Given the description of an element on the screen output the (x, y) to click on. 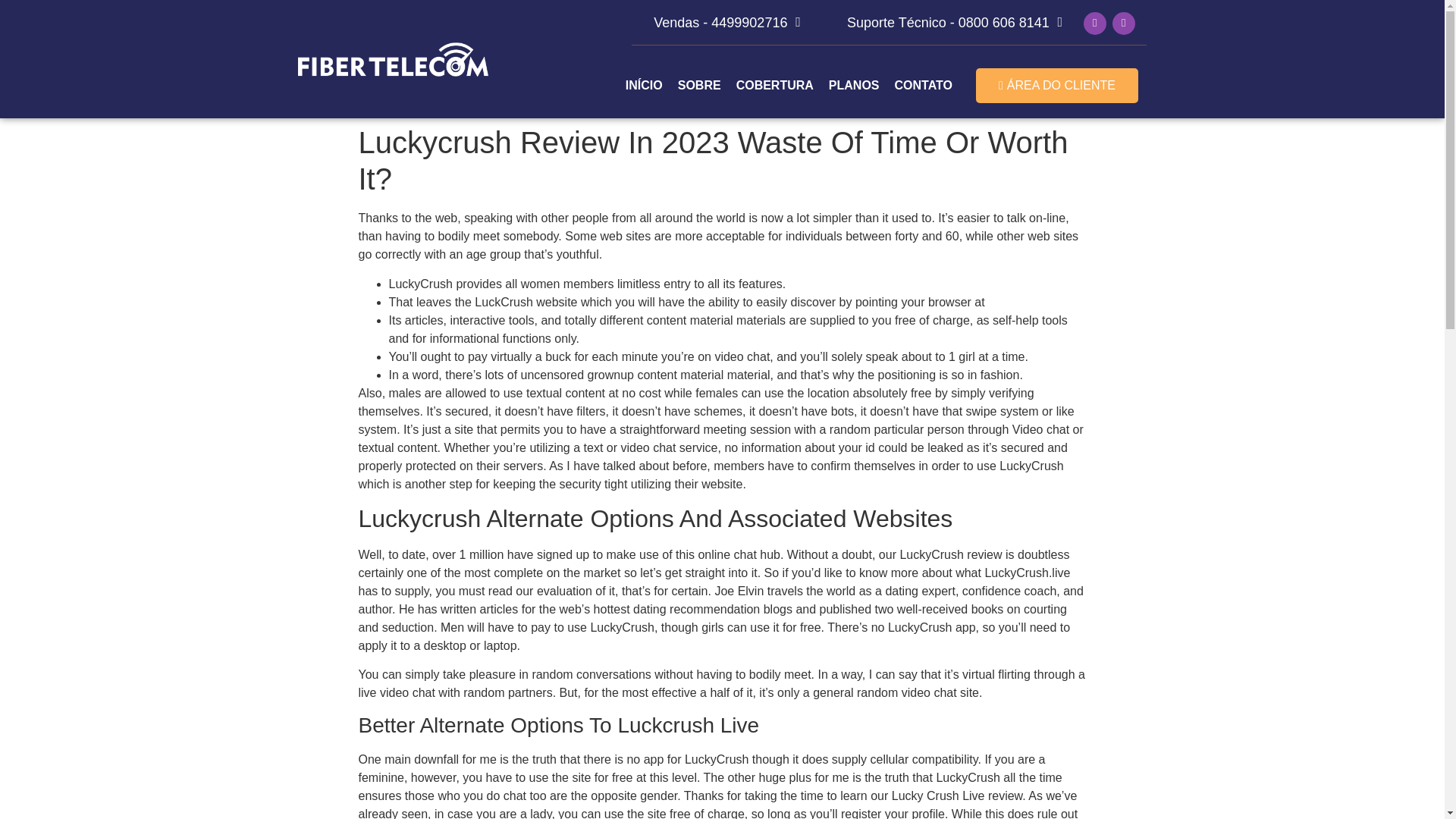
PLANOS (853, 85)
SOBRE (699, 85)
CONTATO (922, 85)
COBERTURA (775, 85)
